Given the description of an element on the screen output the (x, y) to click on. 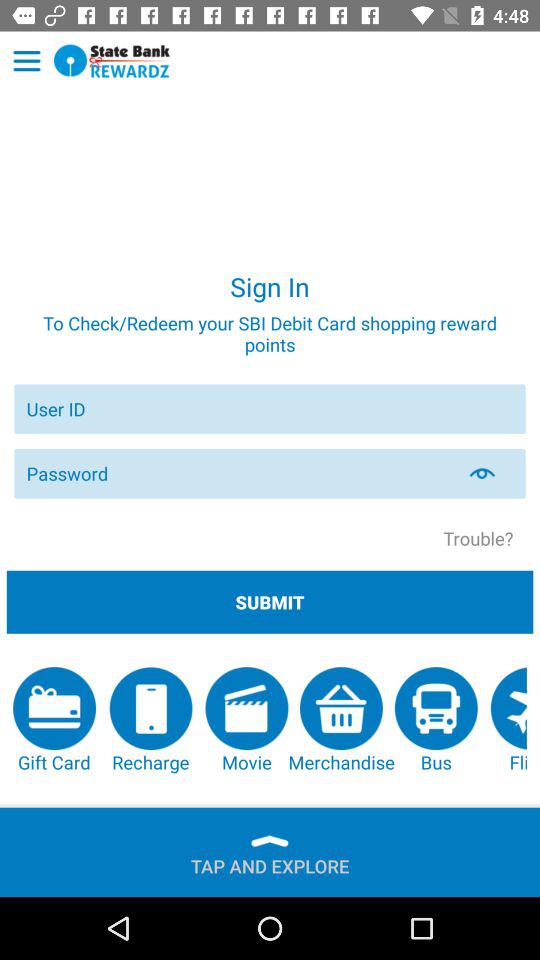
go to main menu (26, 61)
